Given the description of an element on the screen output the (x, y) to click on. 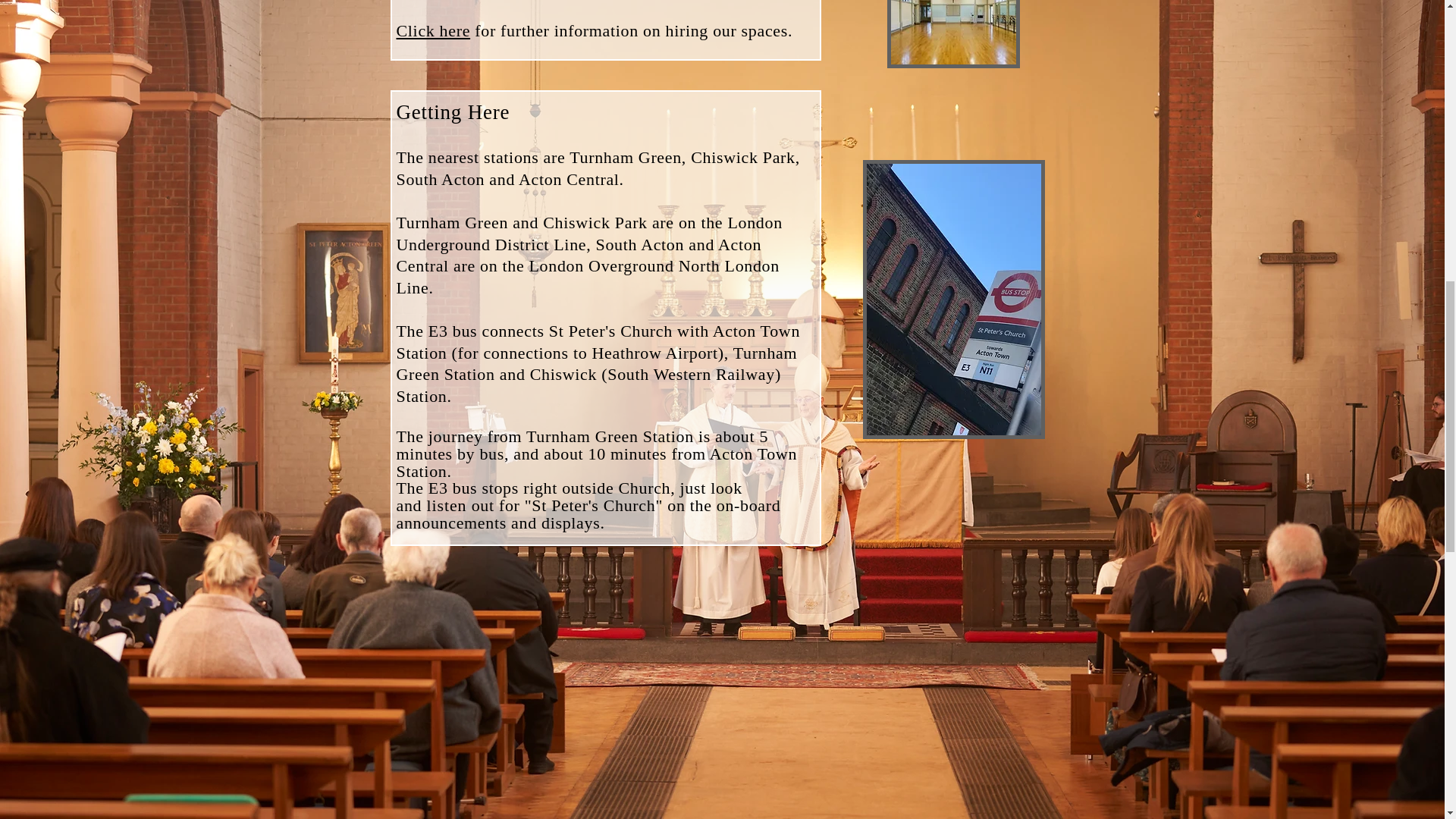
Click here (433, 30)
